Given the description of an element on the screen output the (x, y) to click on. 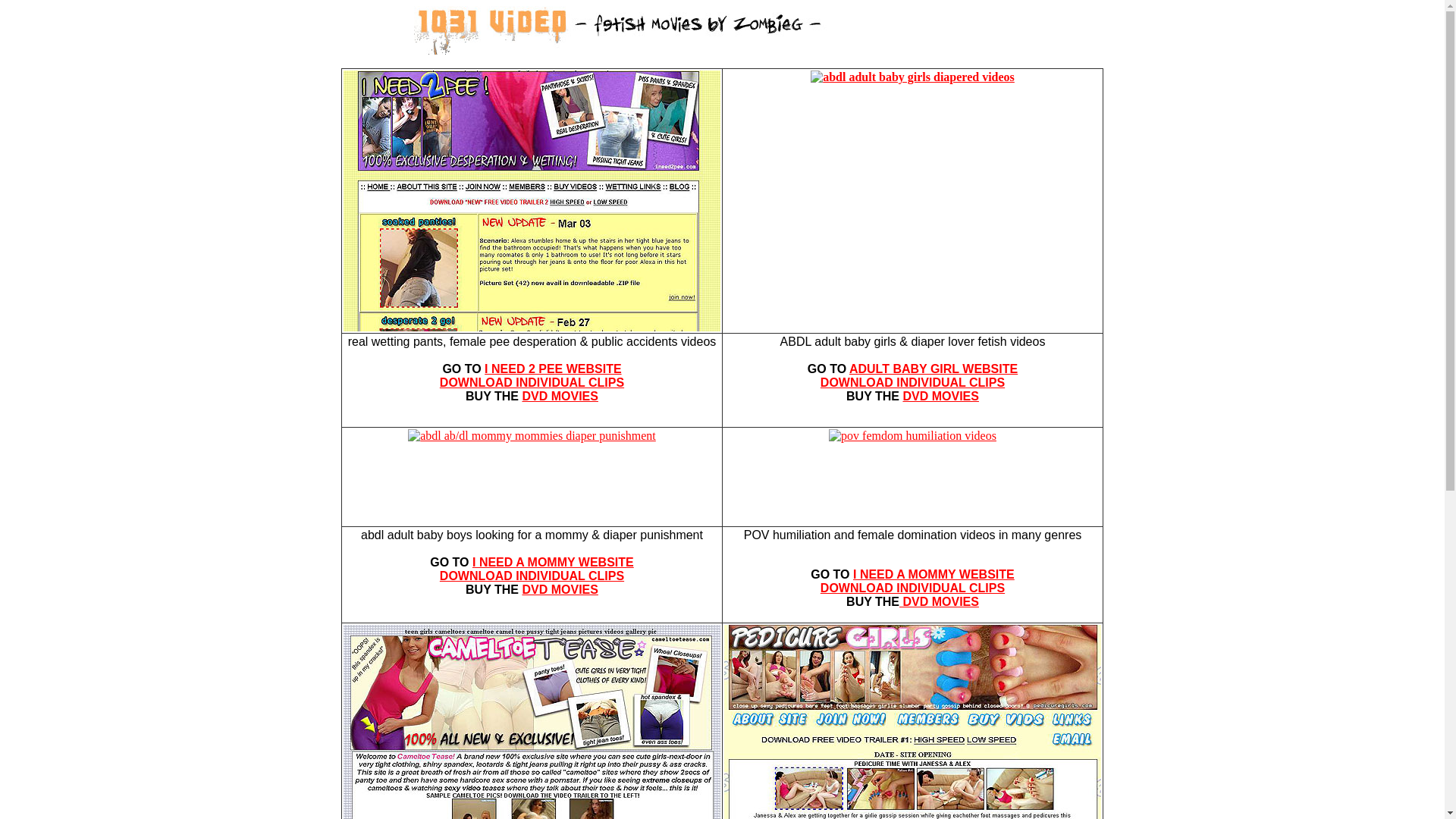
DVD MOVIES Element type: text (939, 601)
DOWNLOAD INDIVIDUAL CLIPS Element type: text (531, 382)
I NEED A MOMMY WEBSITE Element type: text (933, 573)
I NEED A MOMMY WEBSITE Element type: text (552, 561)
DOWNLOAD INDIVIDUAL CLIPS Element type: text (912, 587)
DVD MOVIES Element type: text (940, 395)
DOWNLOAD INDIVIDUAL CLIPS Element type: text (531, 575)
I NEED 2 PEE WEBSITE Element type: text (552, 368)
DVD MOVIES Element type: text (559, 589)
DVD MOVIES Element type: text (559, 395)
DOWNLOAD INDIVIDUAL CLIPS Element type: text (912, 382)
ADULT BABY GIRL WEBSITE Element type: text (933, 368)
